Given the description of an element on the screen output the (x, y) to click on. 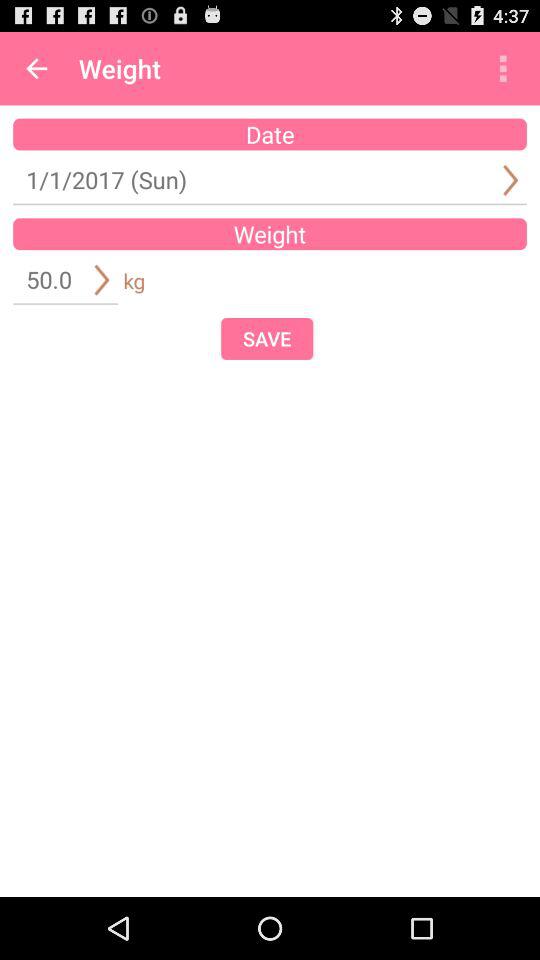
choose item next to the weight icon (503, 67)
